Given the description of an element on the screen output the (x, y) to click on. 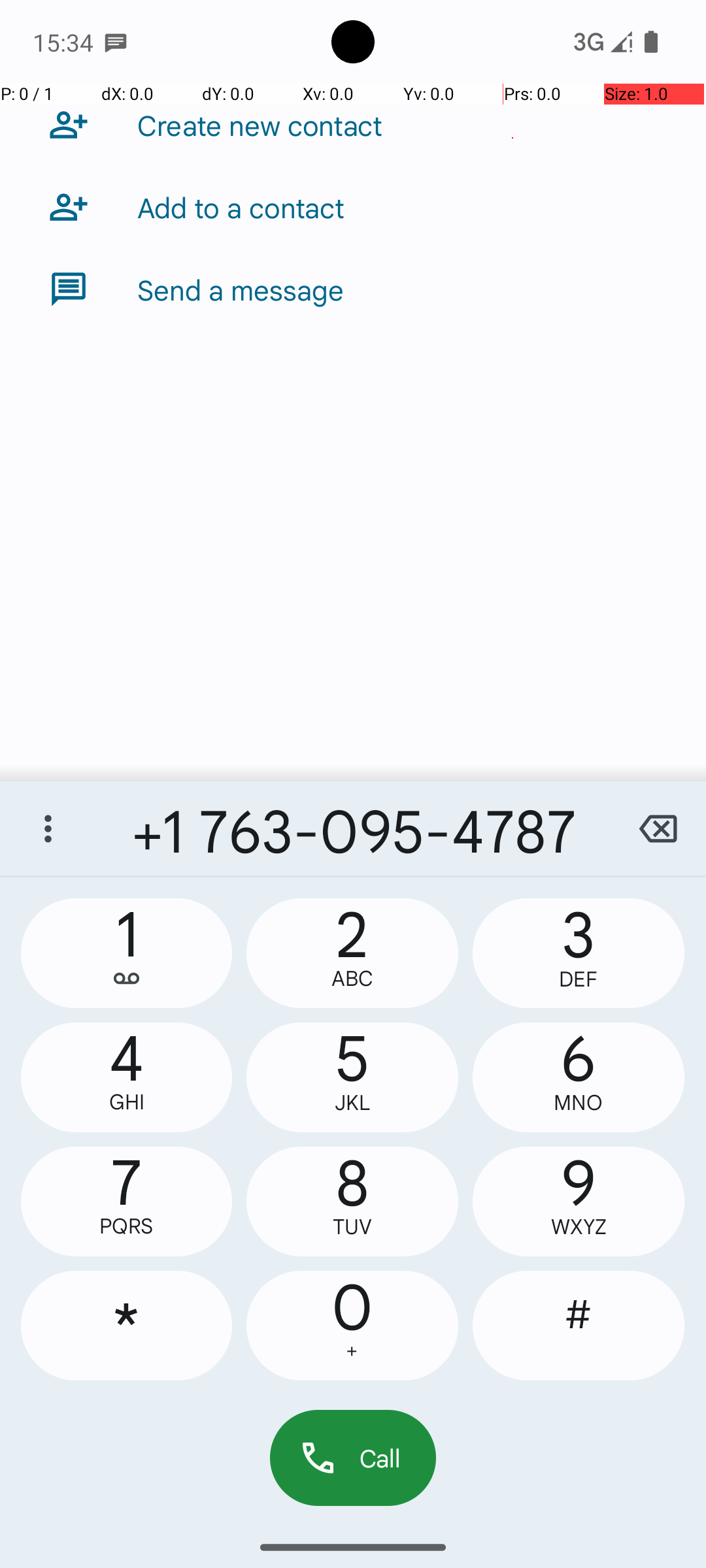
Call Element type: android.widget.Button (352, 1457)
+1 763-095-4787 Element type: android.widget.EditText (352, 828)
backspace Element type: android.widget.ImageButton (657, 828)
1, Element type: android.widget.FrameLayout (126, 953)
2,ABC Element type: android.widget.FrameLayout (352, 953)
3,DEF Element type: android.widget.FrameLayout (578, 953)
4,GHI Element type: android.widget.FrameLayout (126, 1077)
5,JKL Element type: android.widget.FrameLayout (352, 1077)
6,MNO Element type: android.widget.FrameLayout (578, 1077)
7,PQRS Element type: android.widget.FrameLayout (126, 1201)
8,TUV Element type: android.widget.FrameLayout (352, 1201)
9,WXYZ Element type: android.widget.FrameLayout (578, 1201)
* Element type: android.widget.FrameLayout (126, 1325)
# Element type: android.widget.FrameLayout (578, 1325)
ABC Element type: android.widget.TextView (351, 978)
DEF Element type: android.widget.TextView (578, 978)
GHI Element type: android.widget.TextView (126, 1101)
JKL Element type: android.widget.TextView (351, 1102)
MNO Element type: android.widget.TextView (578, 1102)
PQRS Element type: android.widget.TextView (126, 1225)
TUV Element type: android.widget.TextView (351, 1226)
WXYZ Element type: android.widget.TextView (578, 1226)
+ Element type: android.widget.TextView (351, 1351)
Create new contact Element type: android.widget.TextView (260, 124)
Add to a contact Element type: android.widget.TextView (240, 206)
Send a message Element type: android.widget.TextView (240, 289)
